Given the description of an element on the screen output the (x, y) to click on. 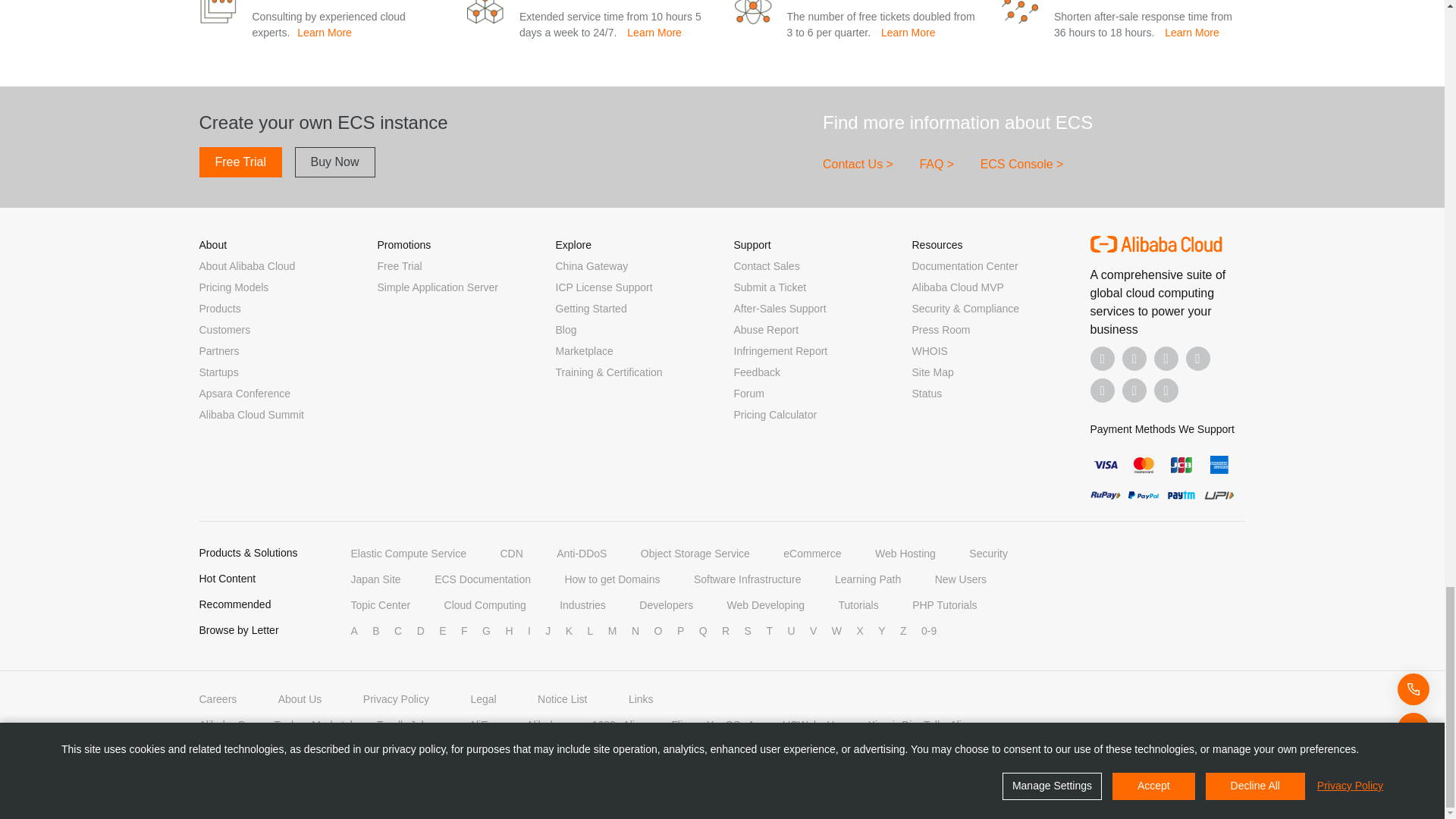
Facebook (1102, 358)
YouTube (1197, 358)
TikTok (1102, 390)
Twitter (1165, 358)
Linkedin (1134, 358)
Call Us Now (1165, 390)
